Given the description of an element on the screen output the (x, y) to click on. 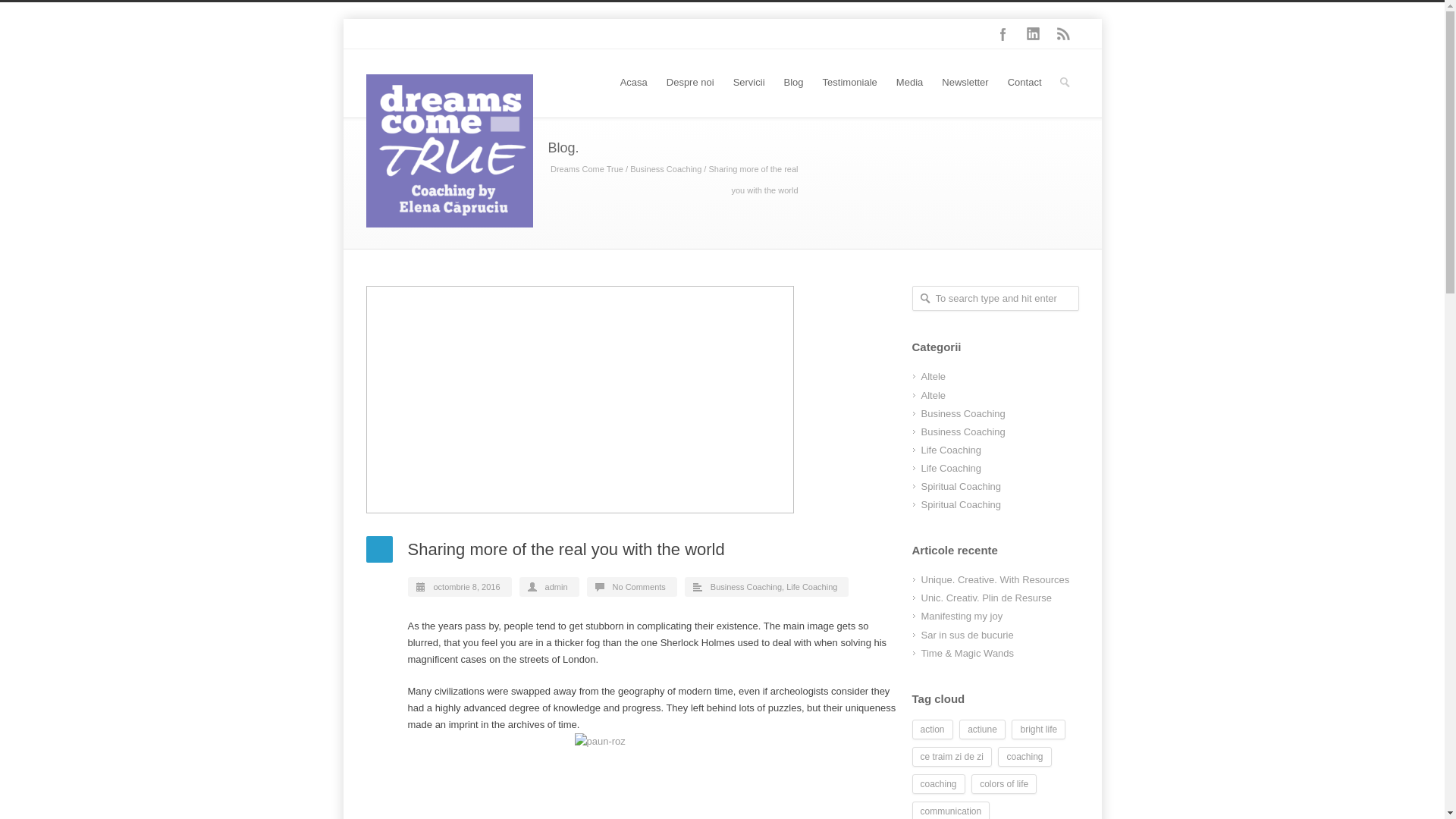
LinkedIn (1032, 33)
Facebook (1002, 33)
admin (555, 586)
No Comments (638, 586)
RSS (1063, 33)
Testimoniale (849, 83)
Dreams Come True (586, 168)
To search type and hit enter (994, 298)
Business Coaching (665, 168)
Sharing more of the real you with the world (630, 399)
Search (13, 10)
